Given the description of an element on the screen output the (x, y) to click on. 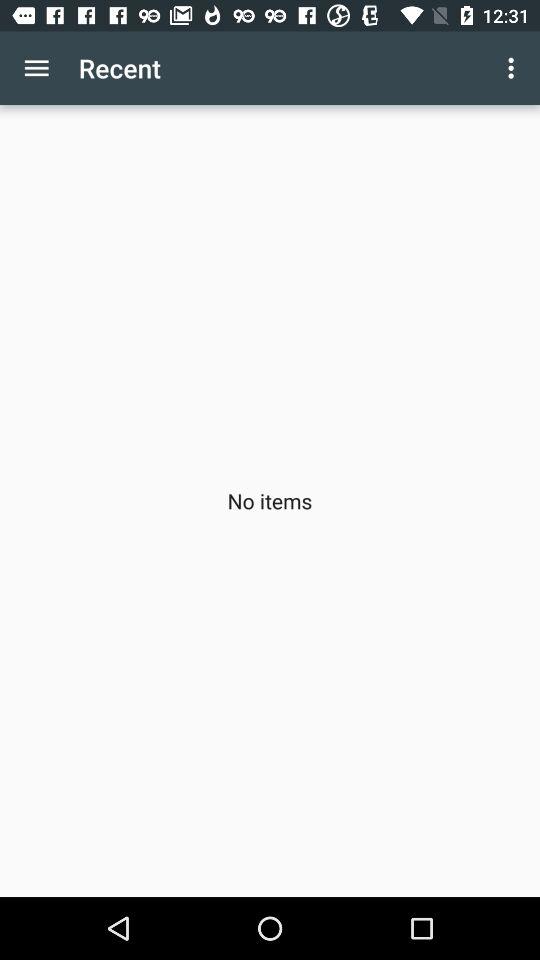
select the item next to the recent icon (36, 68)
